Given the description of an element on the screen output the (x, y) to click on. 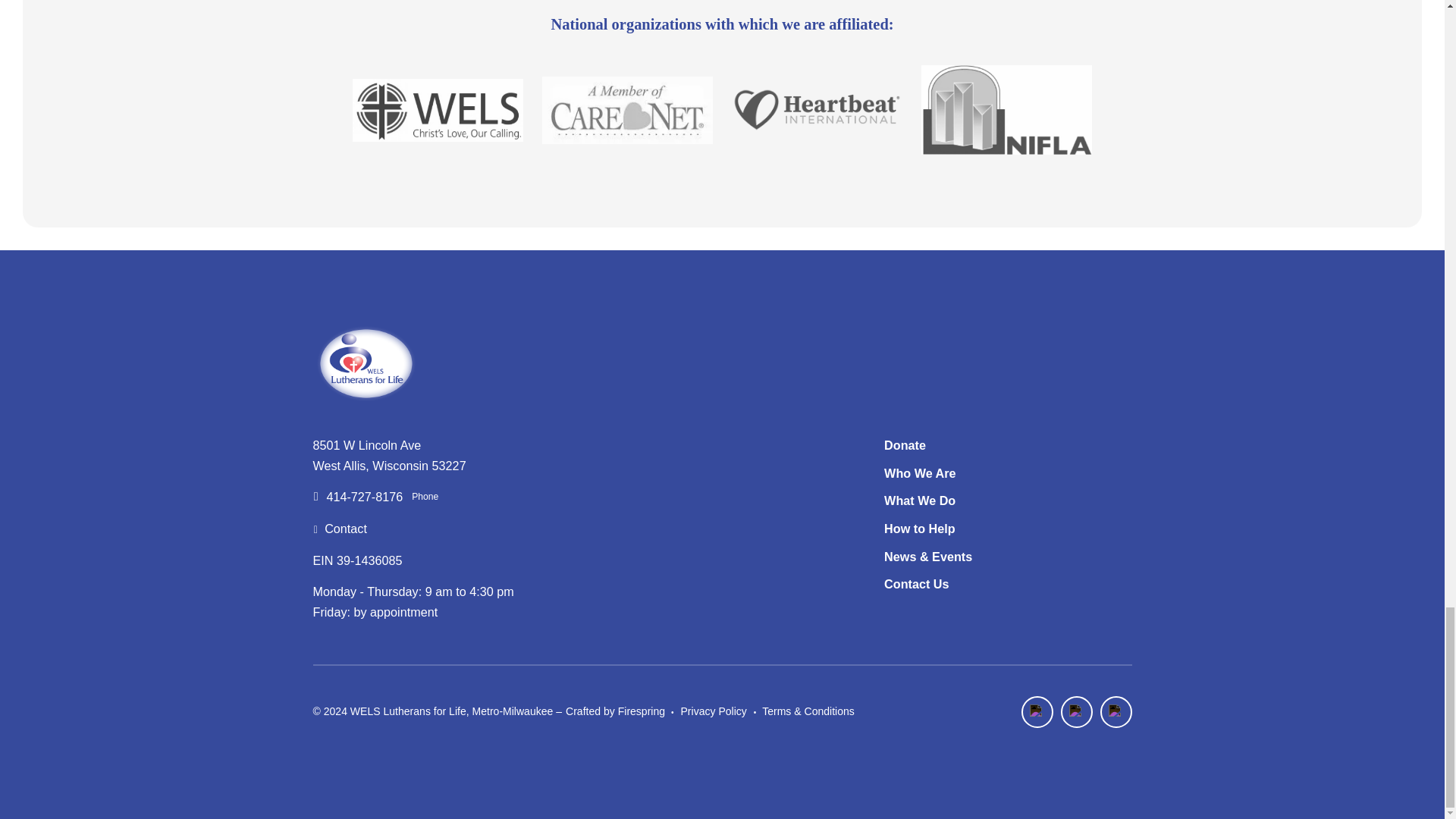
logo (366, 363)
